Given the description of an element on the screen output the (x, y) to click on. 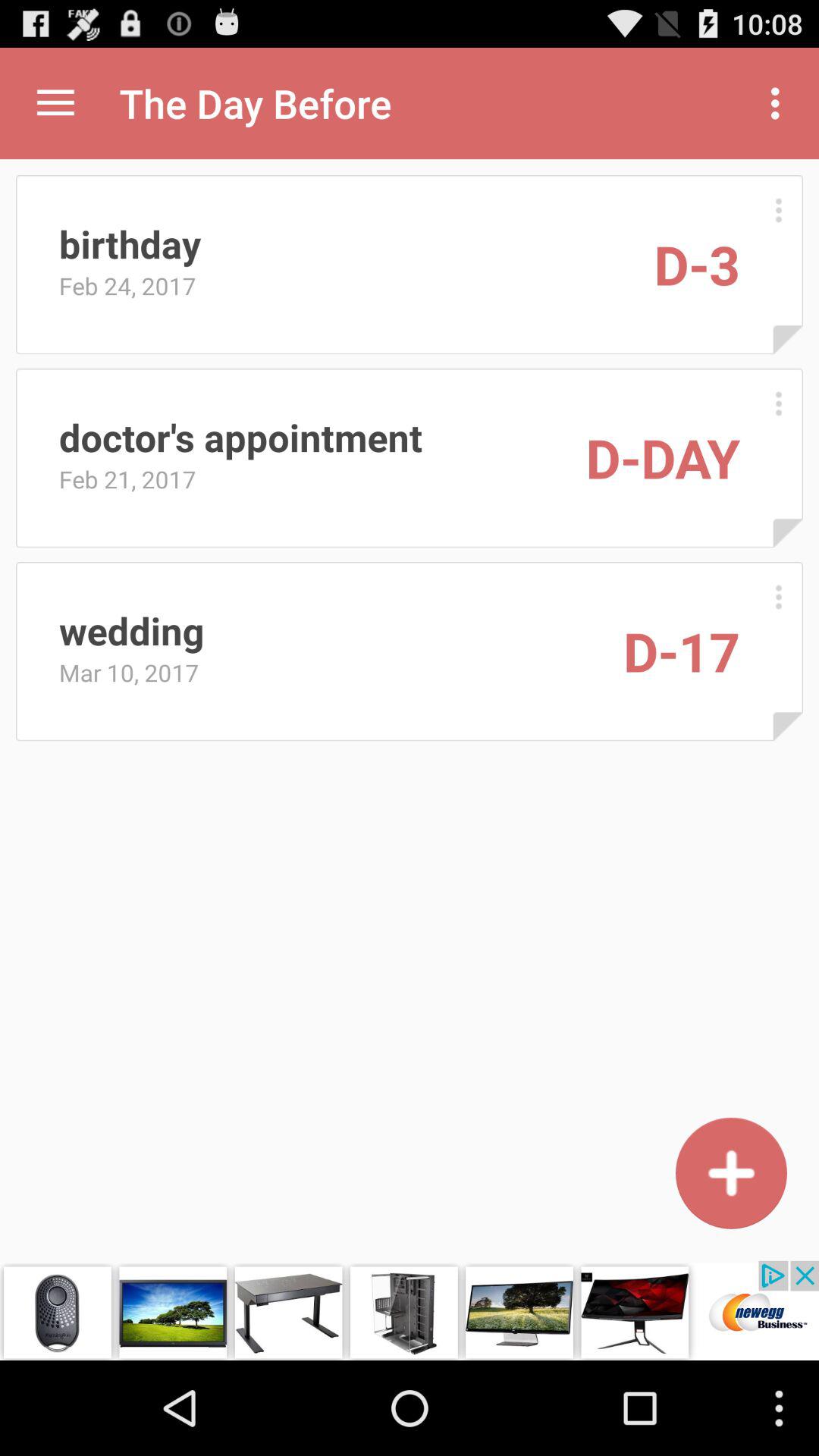
add in new (731, 1173)
